Given the description of an element on the screen output the (x, y) to click on. 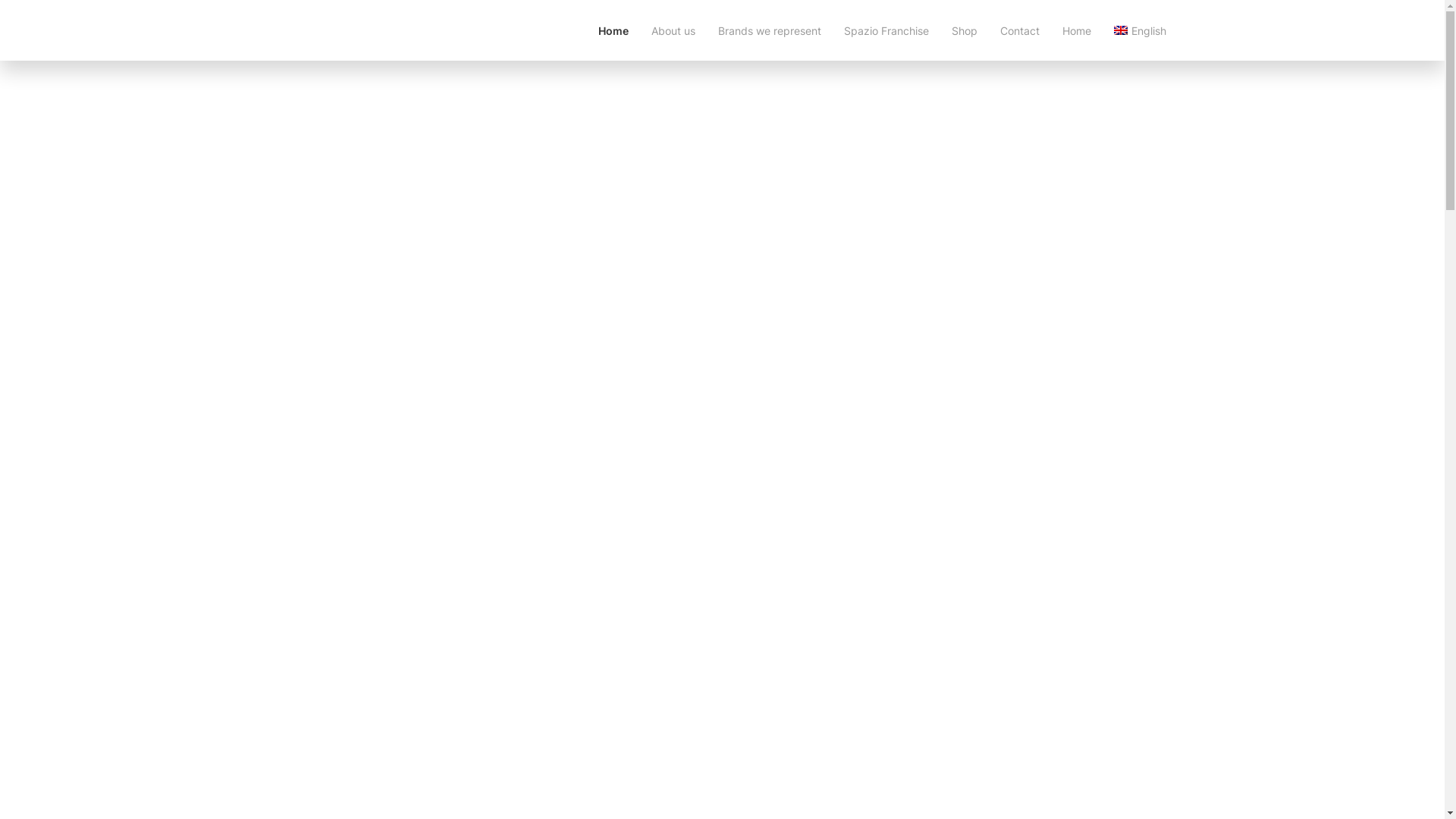
Brands we represent Element type: text (769, 30)
Home Element type: text (1076, 30)
Contact Element type: text (1019, 30)
Spazio Franchise Element type: text (886, 30)
Home Element type: text (613, 30)
About us Element type: text (673, 30)
English Element type: text (1139, 30)
Shop Element type: text (964, 30)
